Given the description of an element on the screen output the (x, y) to click on. 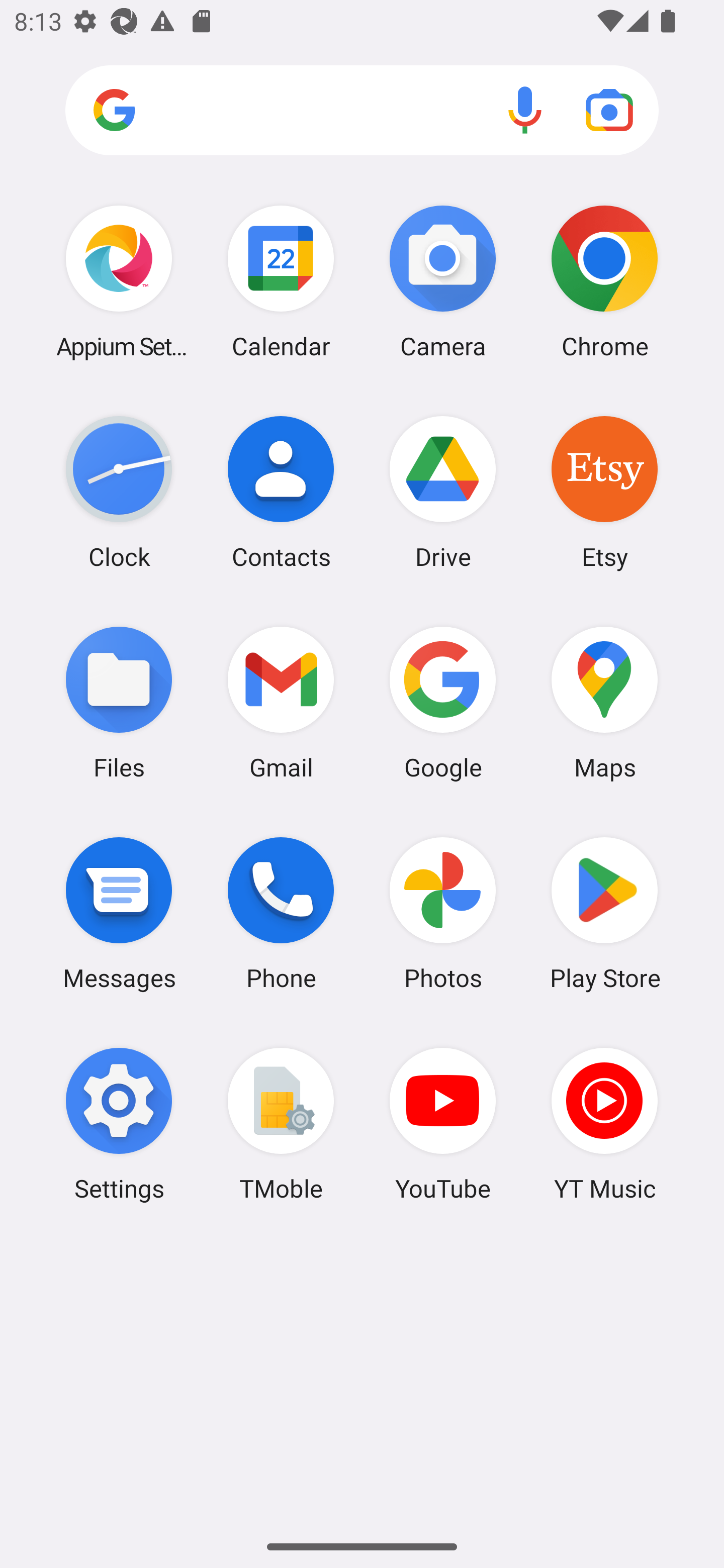
Search apps, web and more (361, 110)
Voice search (524, 109)
Google Lens (608, 109)
Appium Settings (118, 281)
Calendar (280, 281)
Camera (443, 281)
Chrome (604, 281)
Clock (118, 492)
Contacts (280, 492)
Drive (443, 492)
Etsy (604, 492)
Files (118, 702)
Gmail (280, 702)
Google (443, 702)
Maps (604, 702)
Messages (118, 913)
Phone (280, 913)
Photos (443, 913)
Play Store (604, 913)
Settings (118, 1124)
TMoble (280, 1124)
YouTube (443, 1124)
YT Music (604, 1124)
